Given the description of an element on the screen output the (x, y) to click on. 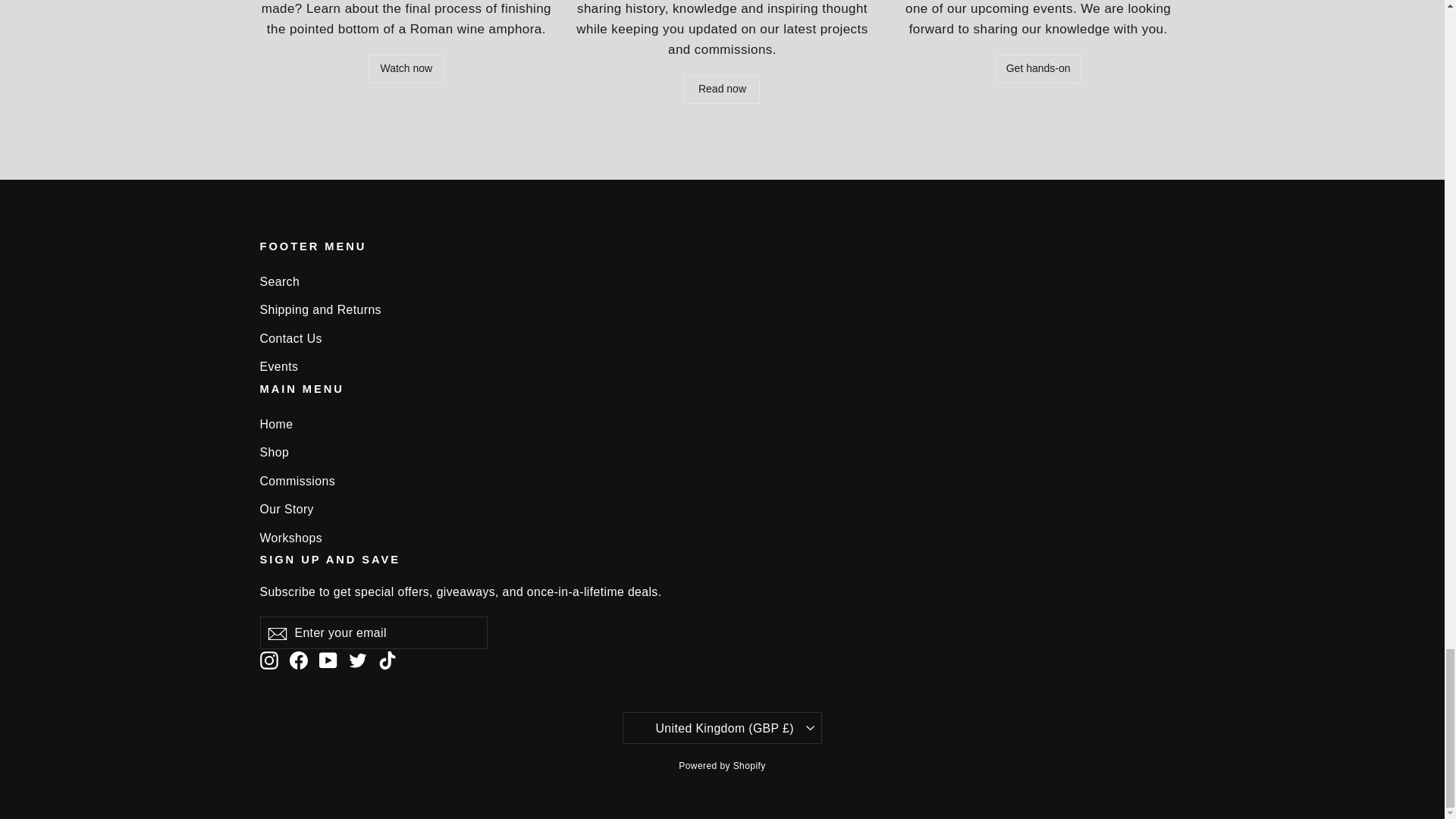
icon-email (276, 633)
PottedHistory on Facebook (298, 659)
instagram (268, 660)
PottedHistory on YouTube (327, 659)
twitter (357, 660)
PottedHistory on Twitter (357, 659)
